Given the description of an element on the screen output the (x, y) to click on. 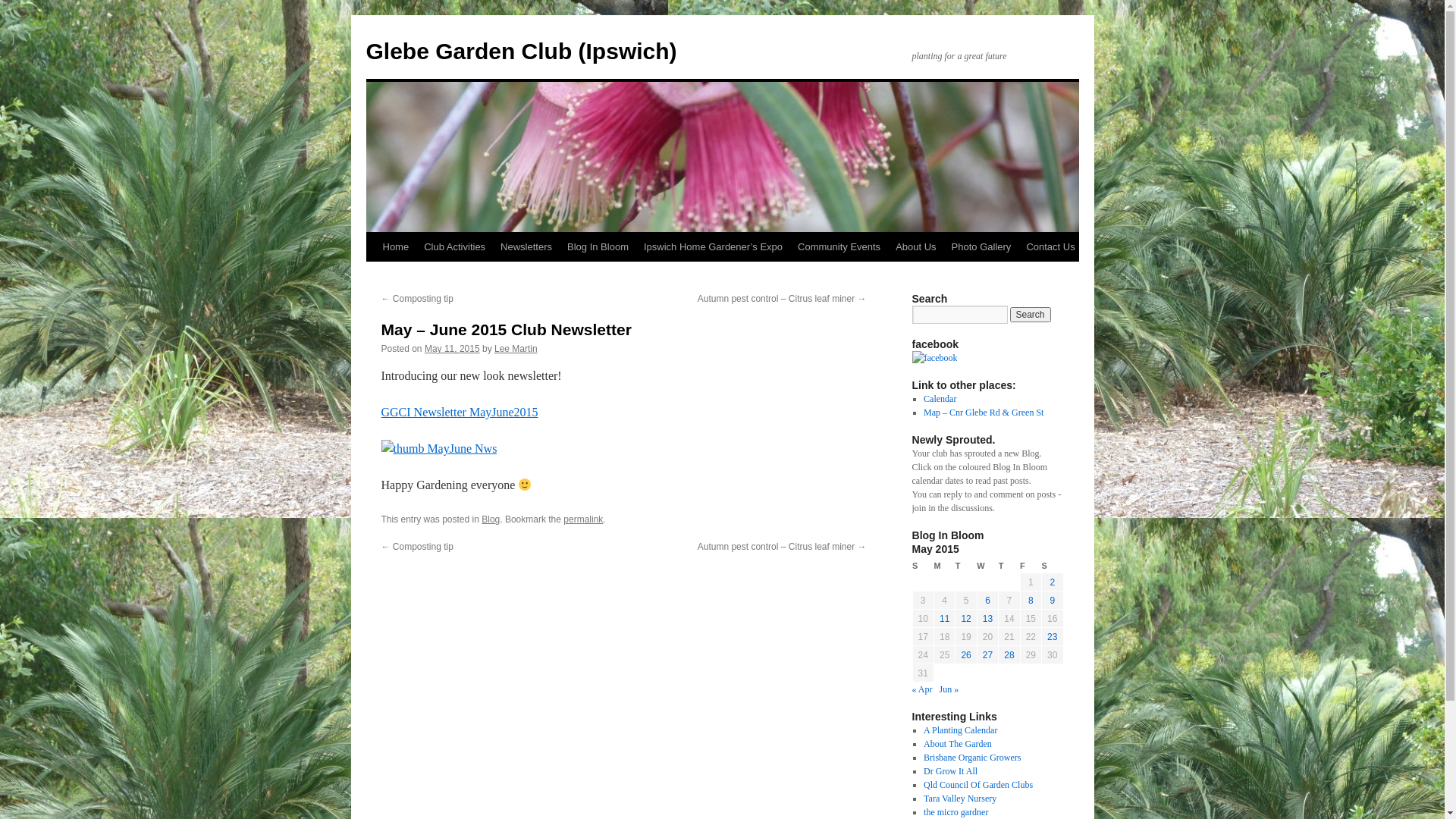
27 Element type: text (987, 654)
23 Element type: text (1052, 636)
facebook Element type: hover (934, 357)
Search Element type: text (1030, 314)
Dr Grow It All Element type: text (950, 770)
28 Element type: text (1008, 654)
Blog Element type: text (490, 519)
Glebe Garden Club (Ipswich) Element type: text (520, 50)
8 Element type: text (1030, 600)
Calendar Element type: text (939, 398)
Community Events Element type: text (839, 246)
Brisbane Organic Growers Element type: text (971, 757)
11 Element type: text (944, 618)
2 Element type: text (1051, 582)
the micro gardner Element type: text (955, 811)
6 Element type: text (987, 600)
Contact Us Element type: text (1050, 246)
Skip to content Element type: text (372, 275)
May 11, 2015 Element type: text (452, 348)
Blog In Bloom Element type: text (597, 246)
Tara Valley Nursery Element type: text (959, 798)
13 Element type: text (987, 618)
26 Element type: text (965, 654)
Newsletters Element type: text (525, 246)
12 Element type: text (965, 618)
Club Activities Element type: text (454, 246)
About The Garden Element type: text (957, 743)
Home Element type: text (395, 246)
Photo Gallery Element type: text (981, 246)
9 Element type: text (1051, 600)
About Us Element type: text (915, 246)
Lee Martin Element type: text (515, 348)
A Planting Calendar Element type: text (960, 729)
Qld Council Of Garden Clubs Element type: text (977, 784)
GGCI Newsletter MayJune2015 Element type: text (458, 411)
permalink Element type: text (582, 519)
